Given the description of an element on the screen output the (x, y) to click on. 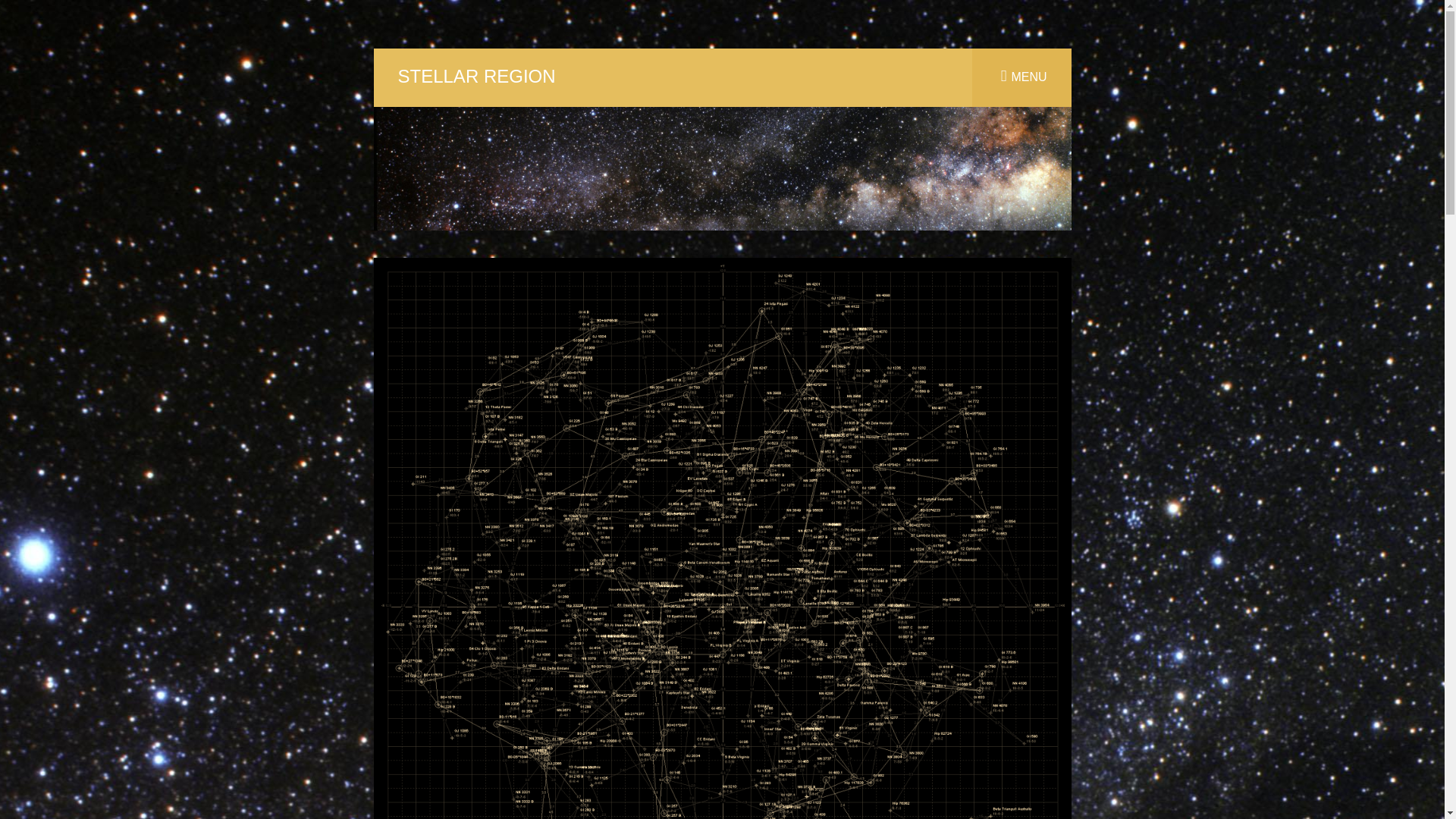
STELLAR REGION (475, 76)
MENU (1021, 77)
